Given the description of an element on the screen output the (x, y) to click on. 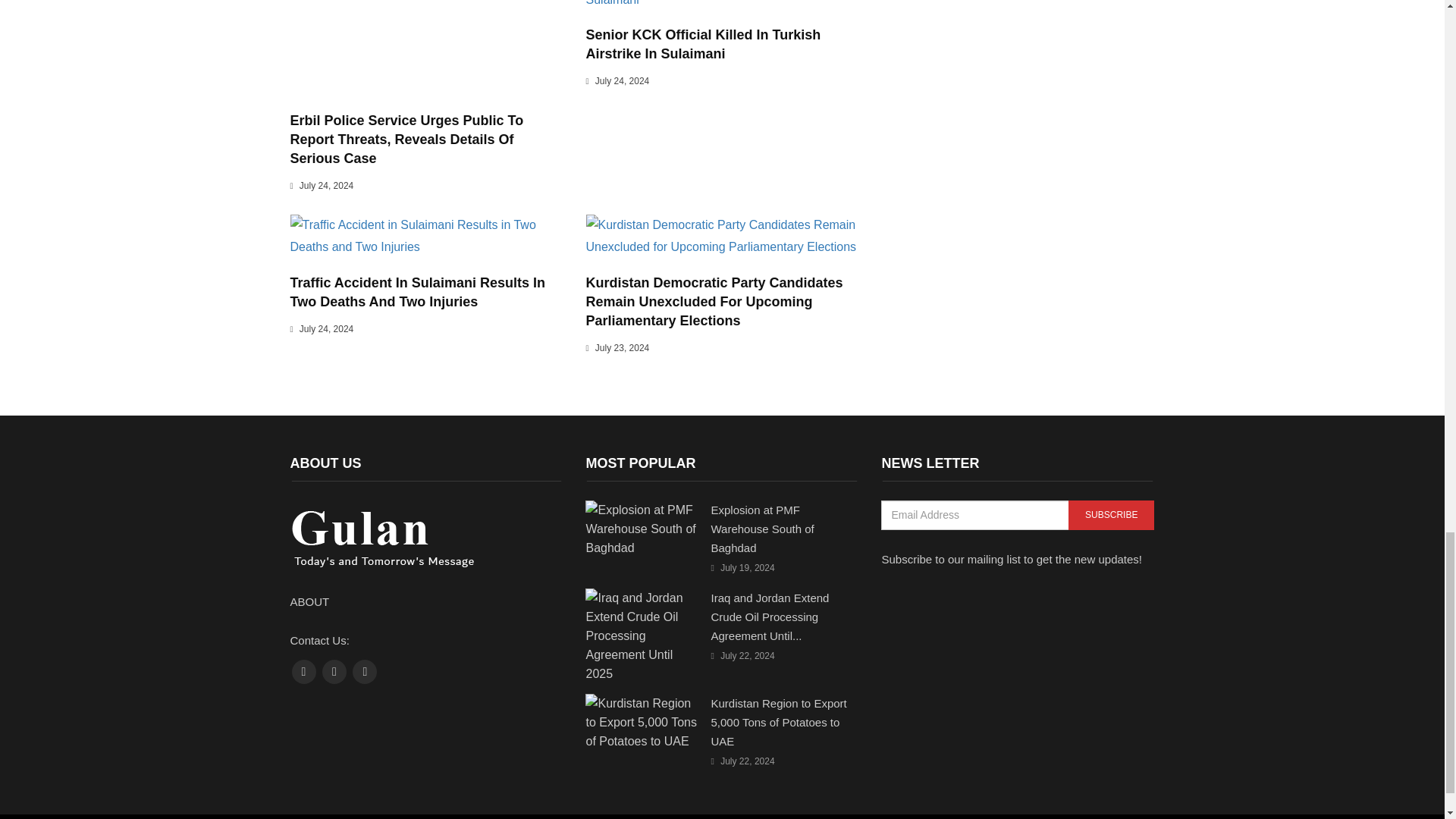
Senior KCK Official Killed In Turkish Airstrike In Sulaimani (703, 44)
